Given the description of an element on the screen output the (x, y) to click on. 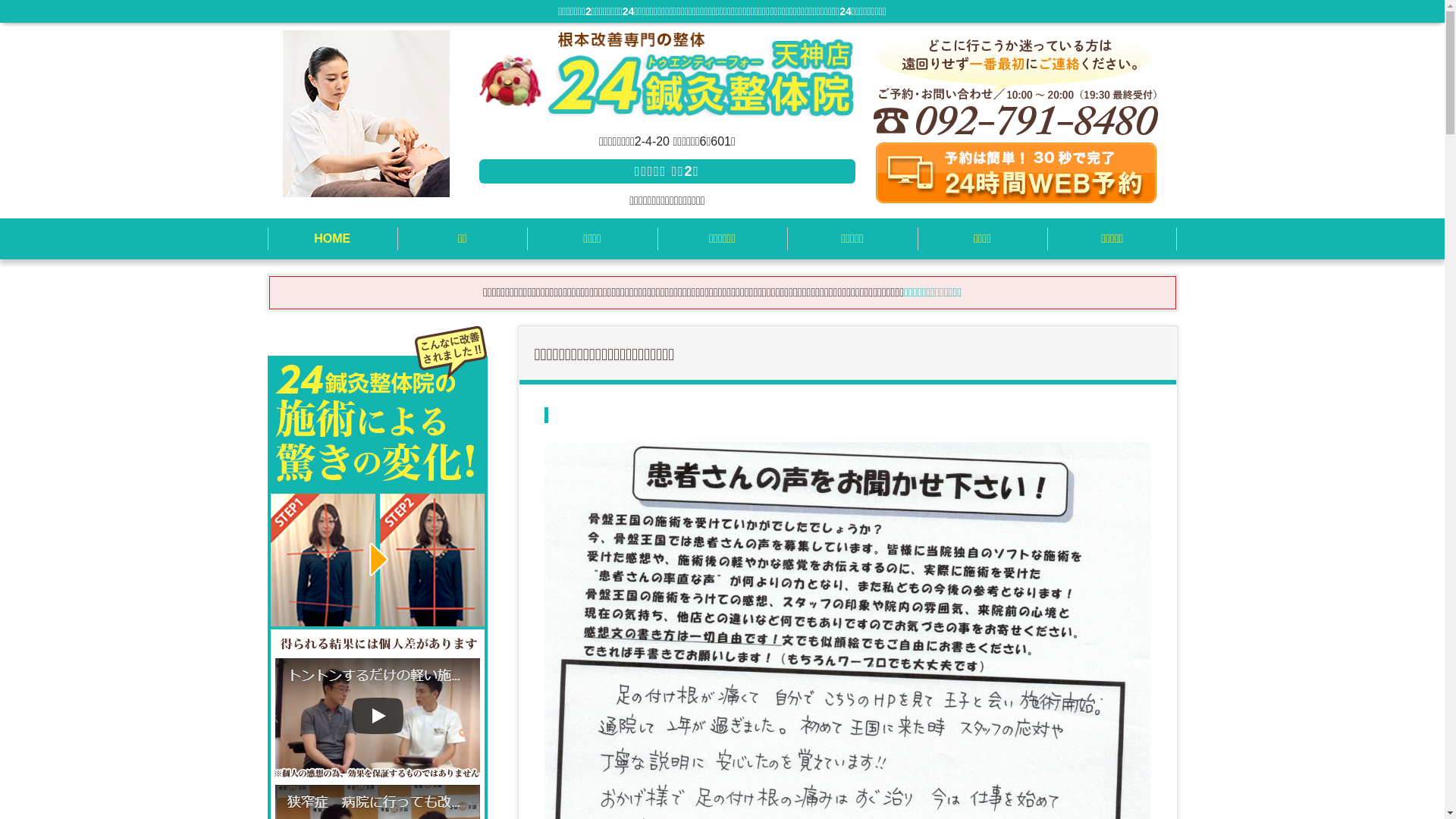
HOME Element type: text (331, 238)
